Given the description of an element on the screen output the (x, y) to click on. 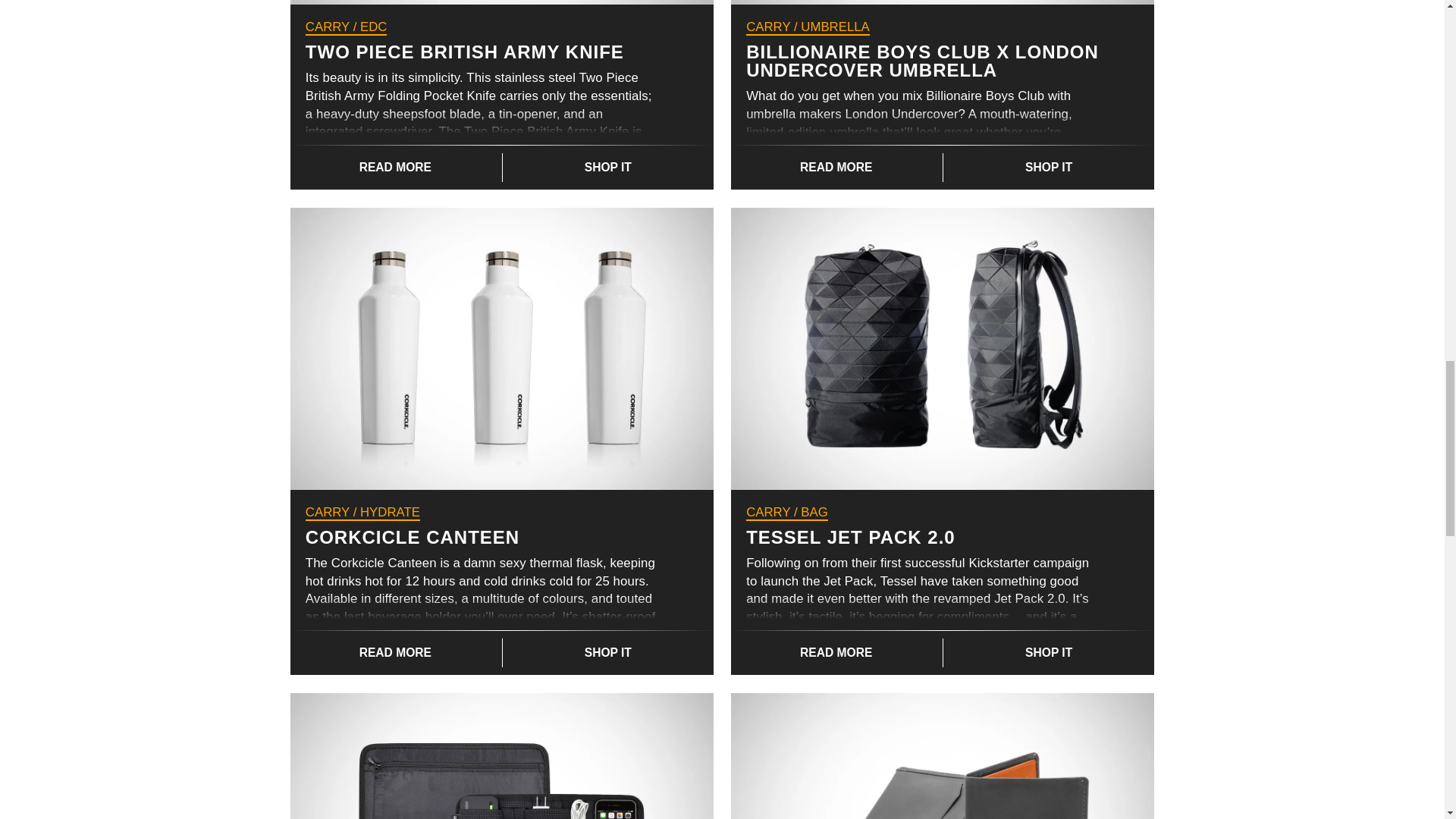
Two Piece British Army Knife (464, 51)
EDC (373, 26)
CARRY (767, 26)
CARRY (327, 26)
TWO PIECE BRITISH ARMY KNIFE (464, 51)
SHOP IT (607, 167)
UMBRELLA (834, 26)
Two Piece British Army Knife (501, 2)
READ MORE ABOUT TWO PIECE BRITISH ARMY KNIFE (394, 167)
